Given the description of an element on the screen output the (x, y) to click on. 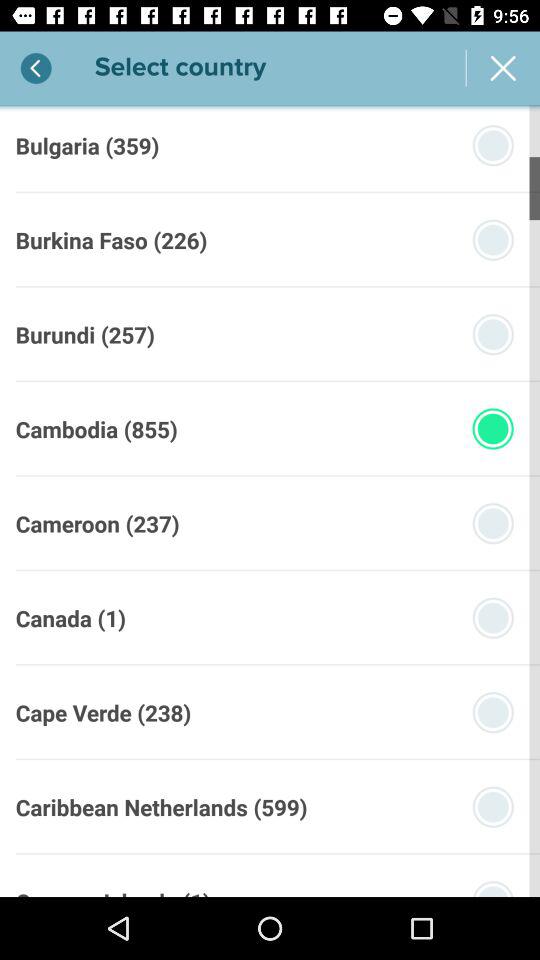
jump until the canada (1) icon (70, 618)
